Given the description of an element on the screen output the (x, y) to click on. 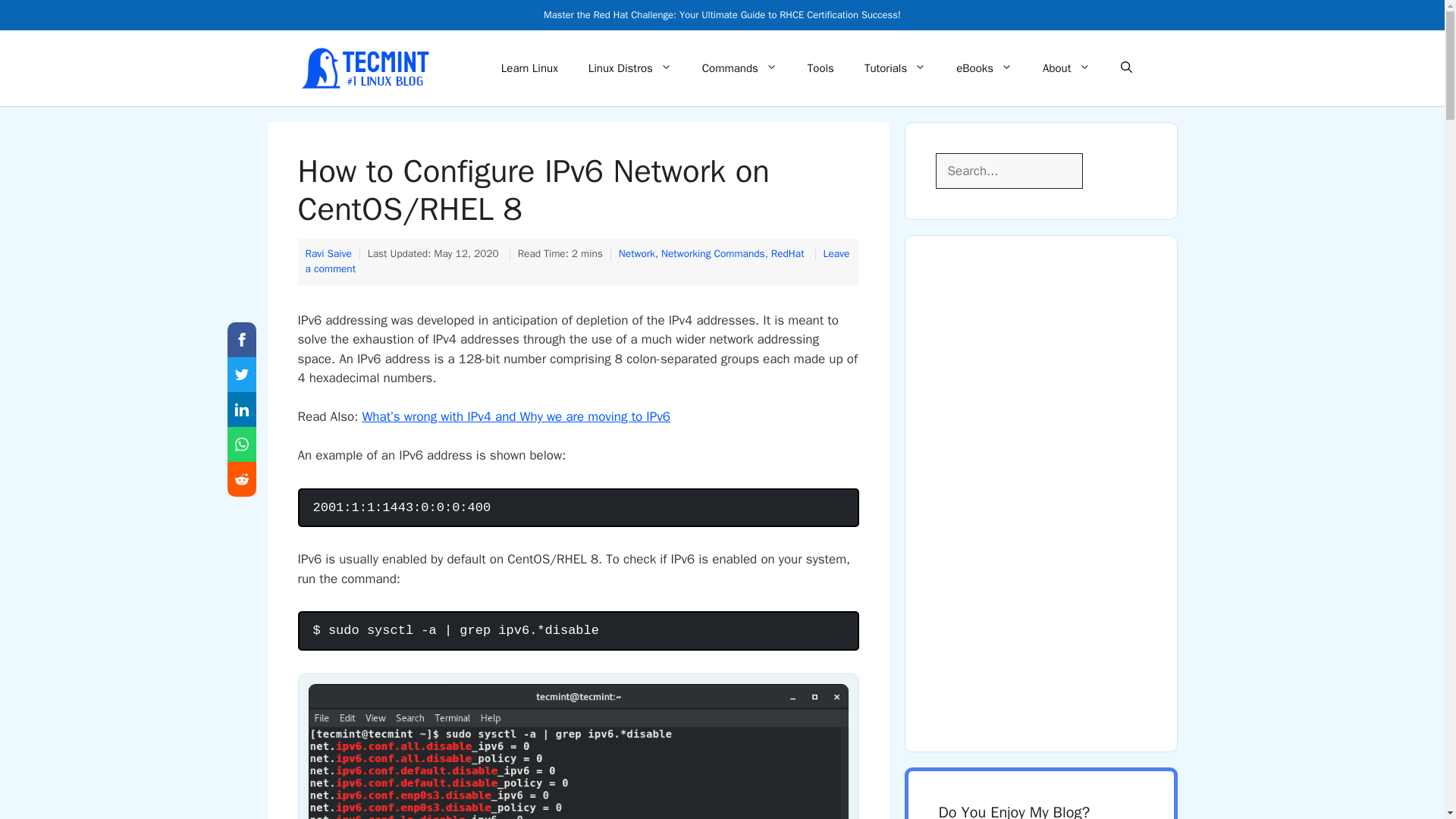
Linux Distros (630, 67)
Tools (820, 67)
Linux Distributions (630, 67)
Tutorials (894, 67)
Commands (739, 67)
Learn Linux (529, 67)
Start Learning Linux (529, 67)
